Given the description of an element on the screen output the (x, y) to click on. 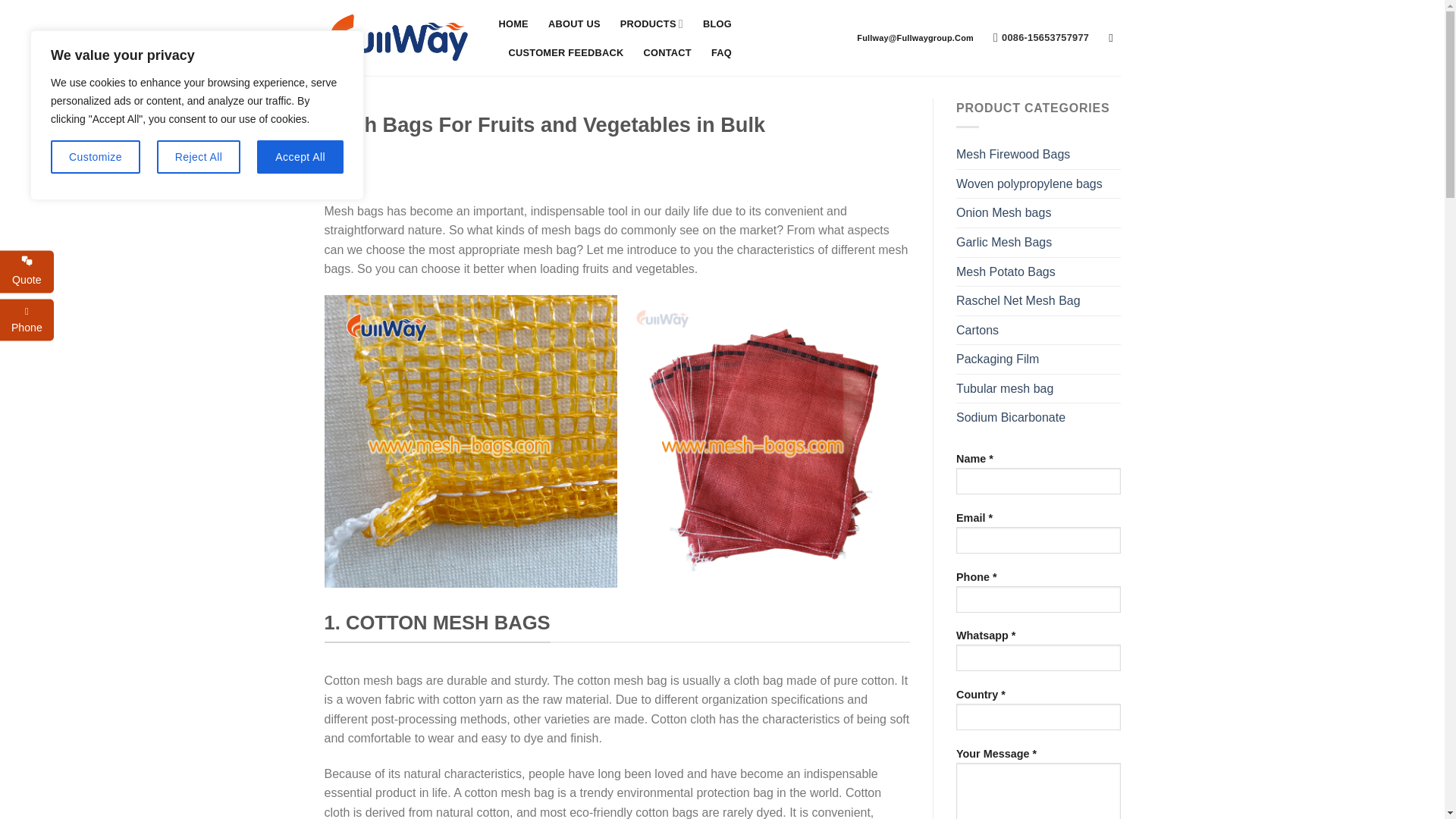
Customize (94, 156)
CONTACT (666, 52)
BLOG (717, 23)
Reject All (199, 156)
0086-15653757977 (1040, 37)
CUSTOMER FEEDBACK (565, 52)
HOME (513, 23)
Accept All (300, 156)
PRODUCTS (651, 23)
ABOUT US (573, 23)
